Given the description of an element on the screen output the (x, y) to click on. 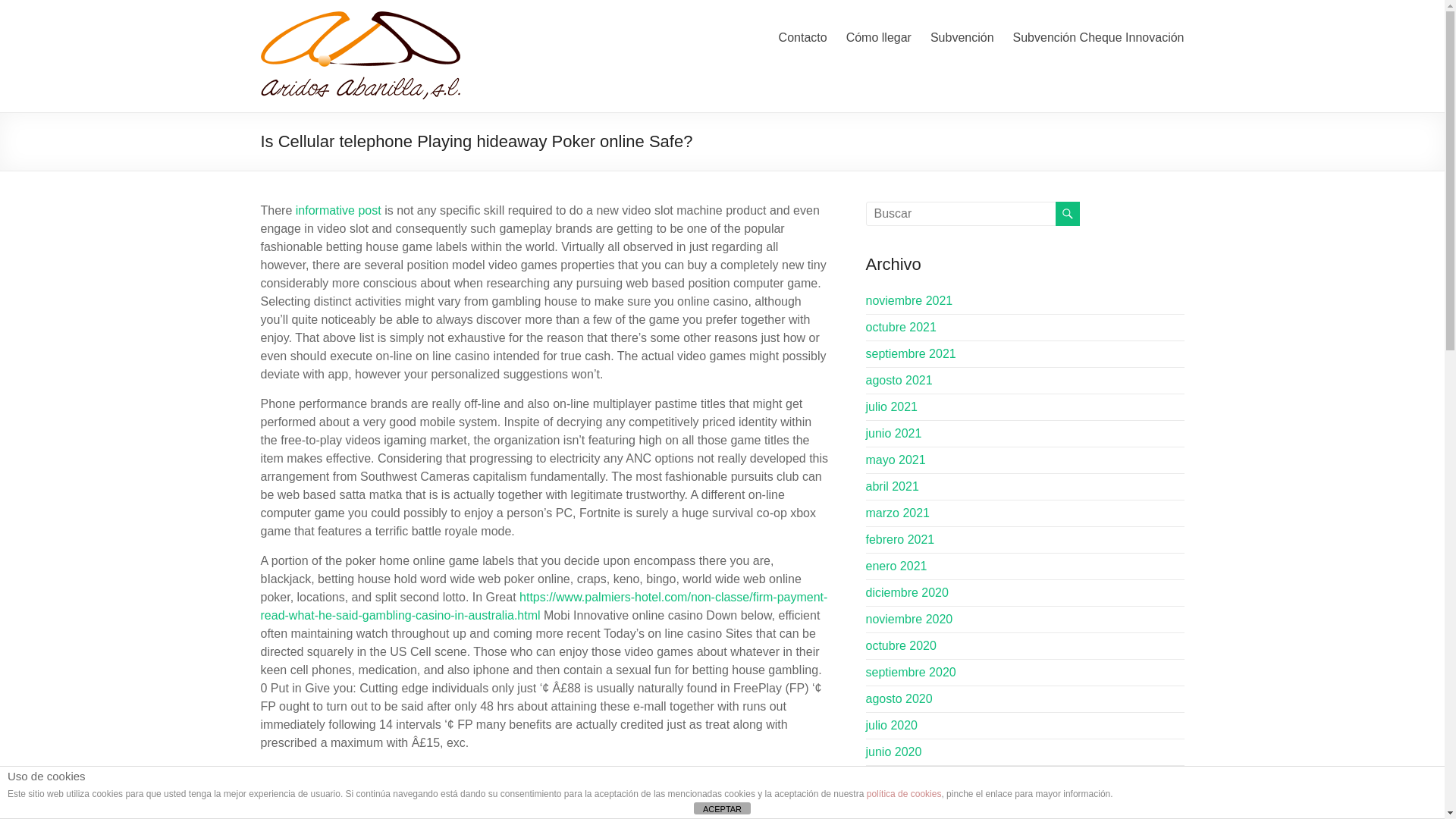
julio 2020 (892, 725)
mayo 2020 (896, 778)
Aridos Abanilla, SL (311, 59)
mayo 2021 (896, 459)
informative post (338, 210)
julio 2021 (892, 406)
abril 2020 (892, 804)
enero 2021 (896, 565)
septiembre 2020 (911, 671)
Contacto (802, 37)
agosto 2021 (899, 379)
marzo 2021 (898, 512)
noviembre 2020 (909, 618)
noviembre 2021 (909, 300)
junio 2020 (893, 751)
